Given the description of an element on the screen output the (x, y) to click on. 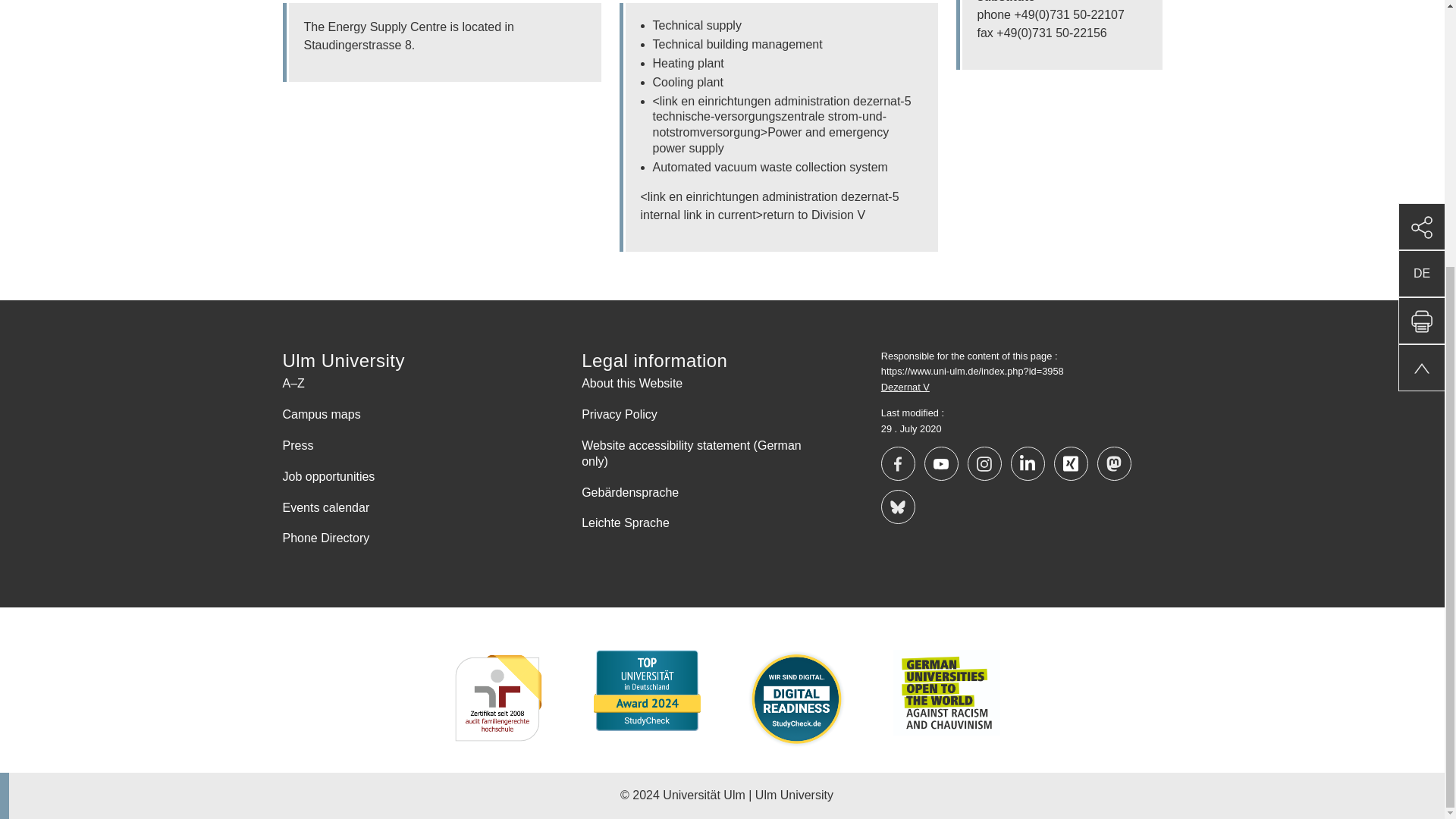
instagram (984, 463)
To top (1421, 1)
mastodon (1114, 463)
youtube (941, 463)
bluesky (897, 506)
StudyCheck - top university (647, 690)
linkedin (1027, 463)
xing (1070, 463)
facebook (897, 463)
Certificate since 2008 - audit family-friendly university (497, 699)
